Given the description of an element on the screen output the (x, y) to click on. 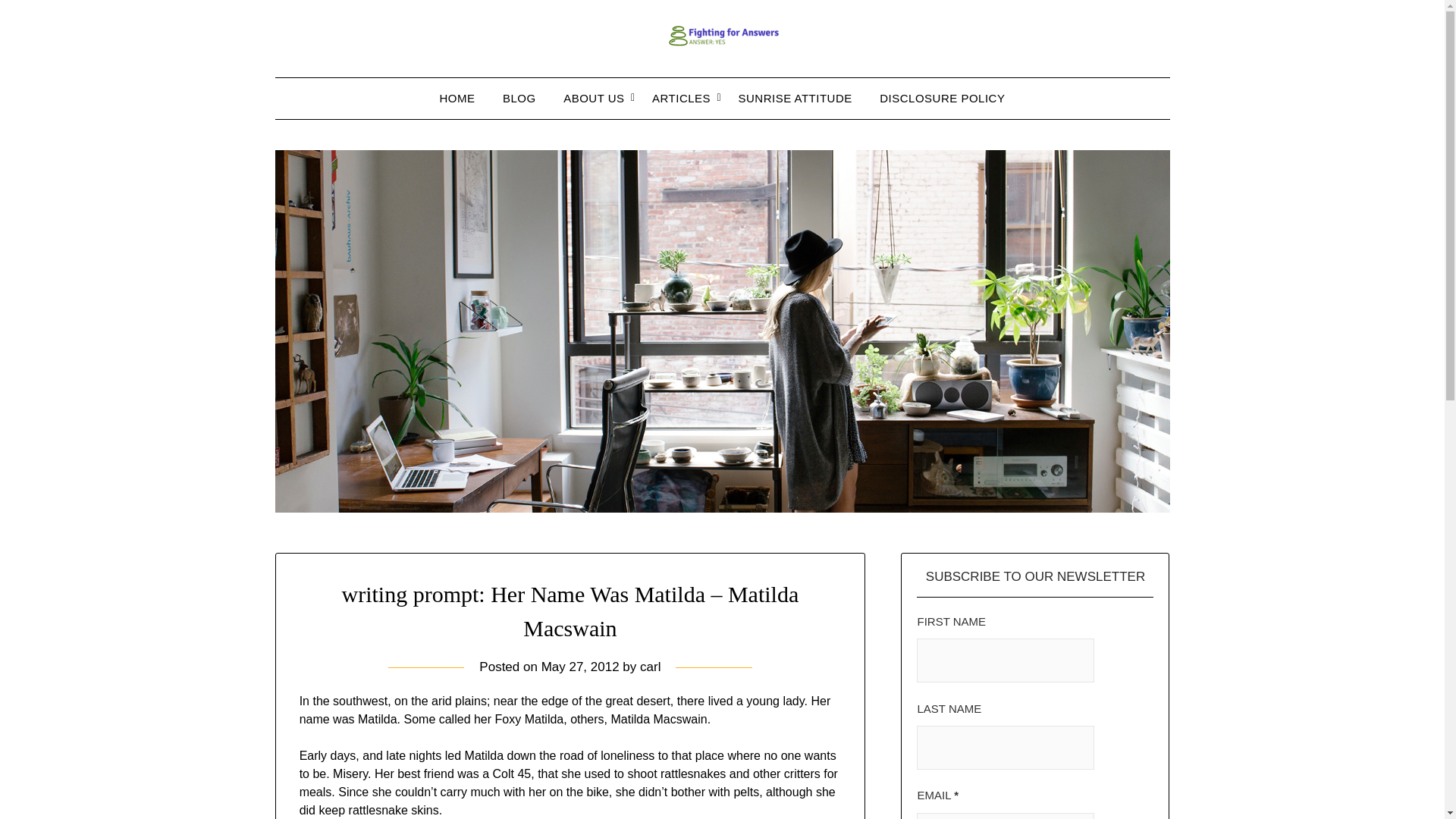
Last name (1005, 747)
carl (650, 667)
DISCLOSURE POLICY (941, 97)
ABOUT US (593, 97)
SUNRISE ATTITUDE (795, 97)
ARTICLES (681, 97)
First name (1005, 660)
HOME (457, 97)
May 27, 2012 (580, 667)
Email (1005, 816)
BLOG (519, 97)
